Given the description of an element on the screen output the (x, y) to click on. 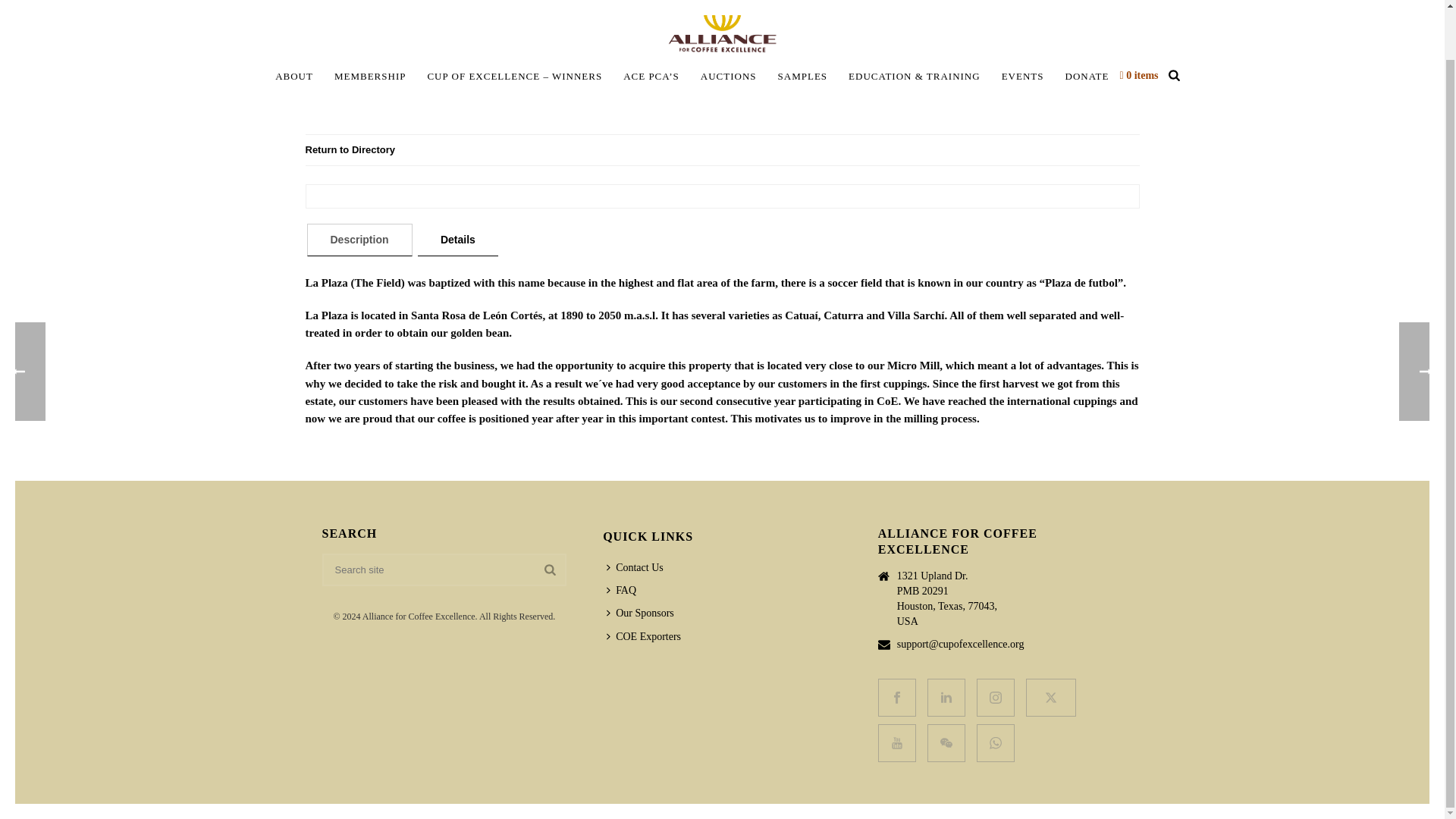
Start shopping (1138, 75)
Follow Us on linkedin (946, 697)
Follow Us on twitter (1050, 697)
MEMBERSHIP (369, 76)
Follow Us on wechat (946, 742)
Follow Us on youtube (896, 742)
AUCTIONS (728, 76)
Follow Us on whatsapp (995, 742)
Follow Us on facebook (896, 697)
MEMBERSHIP (369, 76)
